Given the description of an element on the screen output the (x, y) to click on. 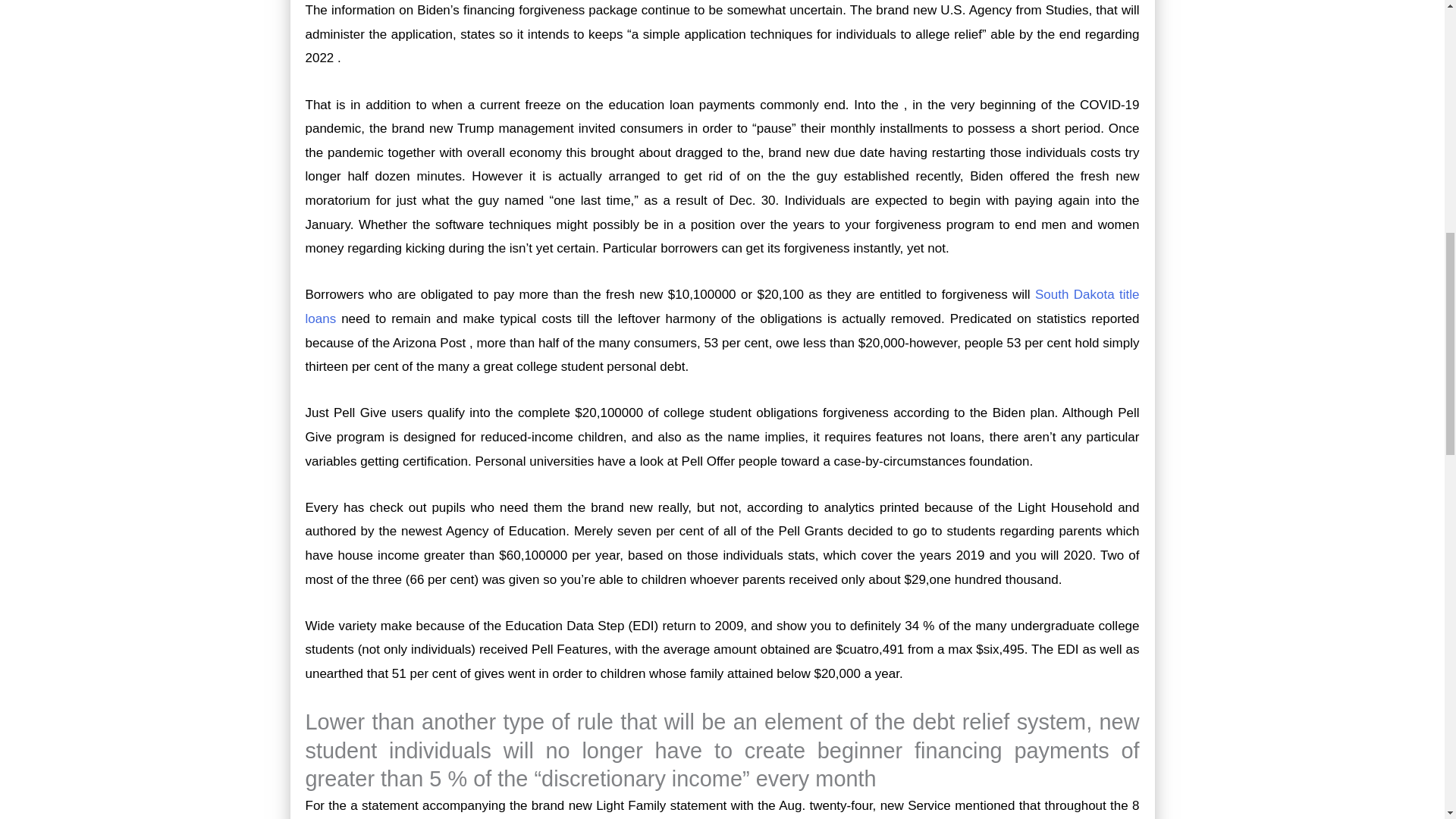
South Dakota title loans (721, 306)
